Given the description of an element on the screen output the (x, y) to click on. 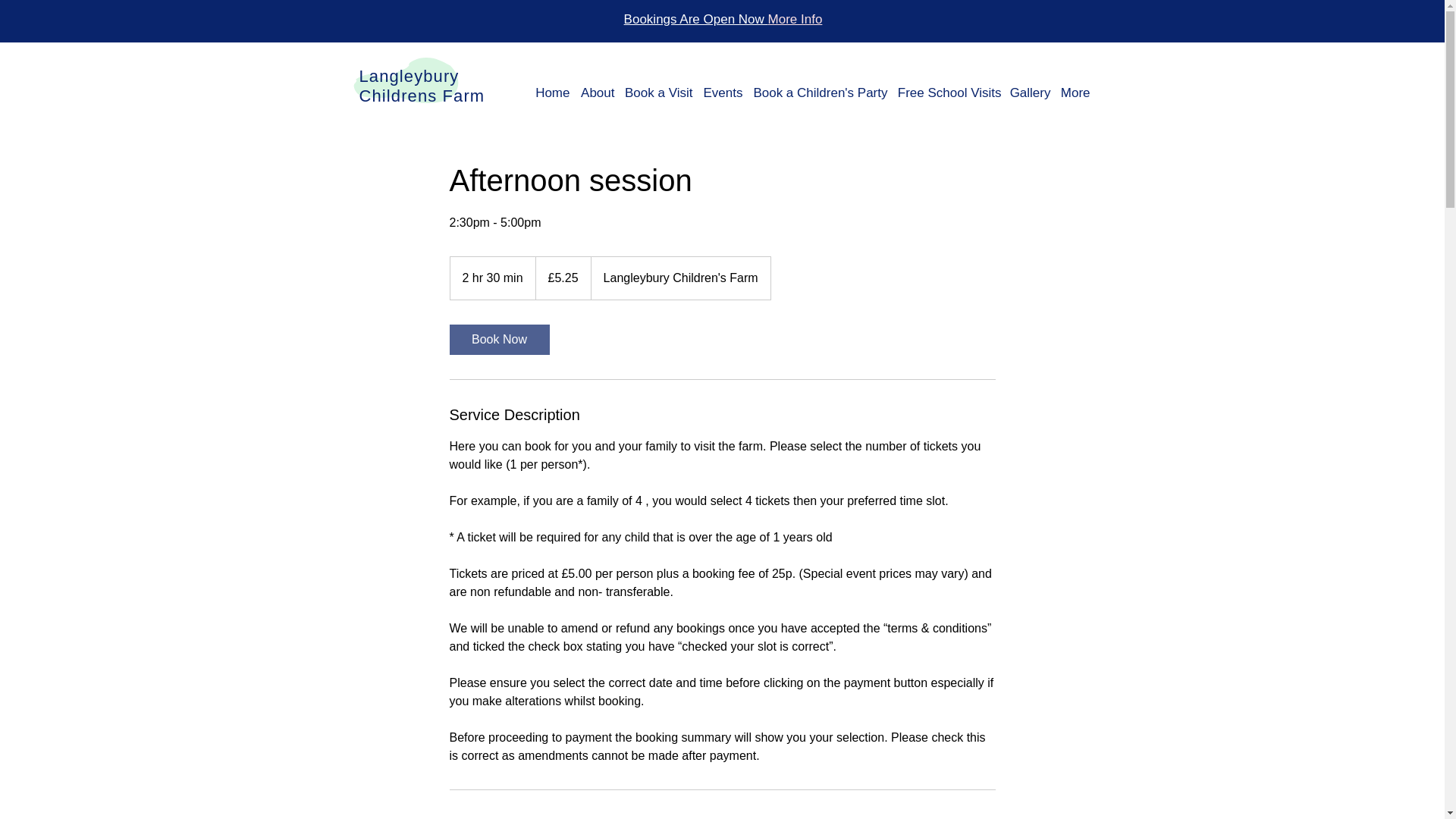
Free School Visits (948, 92)
Events (721, 92)
About (596, 92)
Book a Visit (657, 92)
Home (551, 92)
Book Now (498, 339)
Bookings Are Open Now More Info (723, 19)
Langleybury Childrens Farm (421, 85)
Book a Children's Party (819, 92)
Gallery (1029, 92)
